Given the description of an element on the screen output the (x, y) to click on. 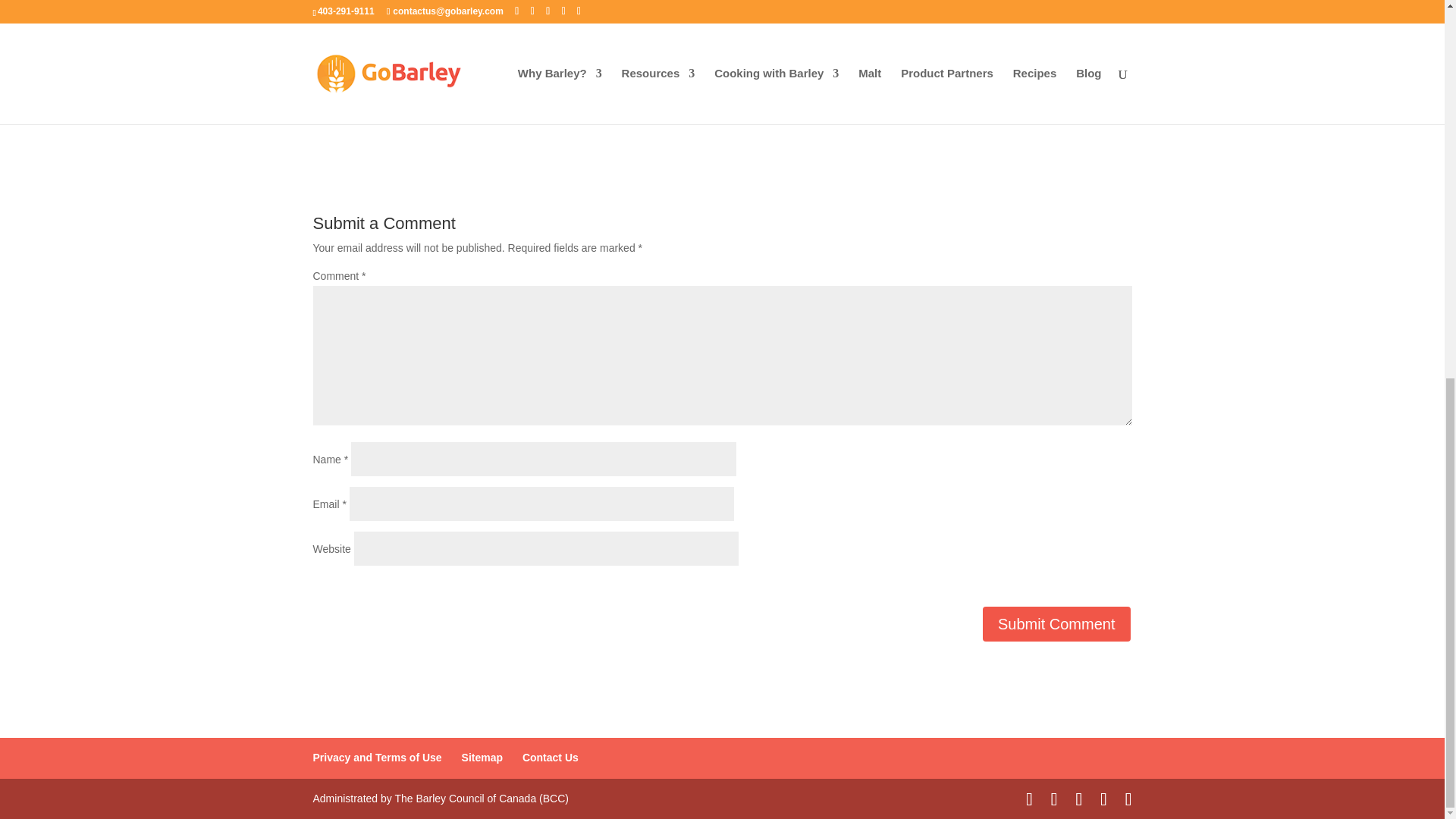
Submit Comment (1056, 623)
Eu J of Clin Nutr (1010, 55)
Submit Comment (1056, 623)
Circulation (585, 37)
